Given the description of an element on the screen output the (x, y) to click on. 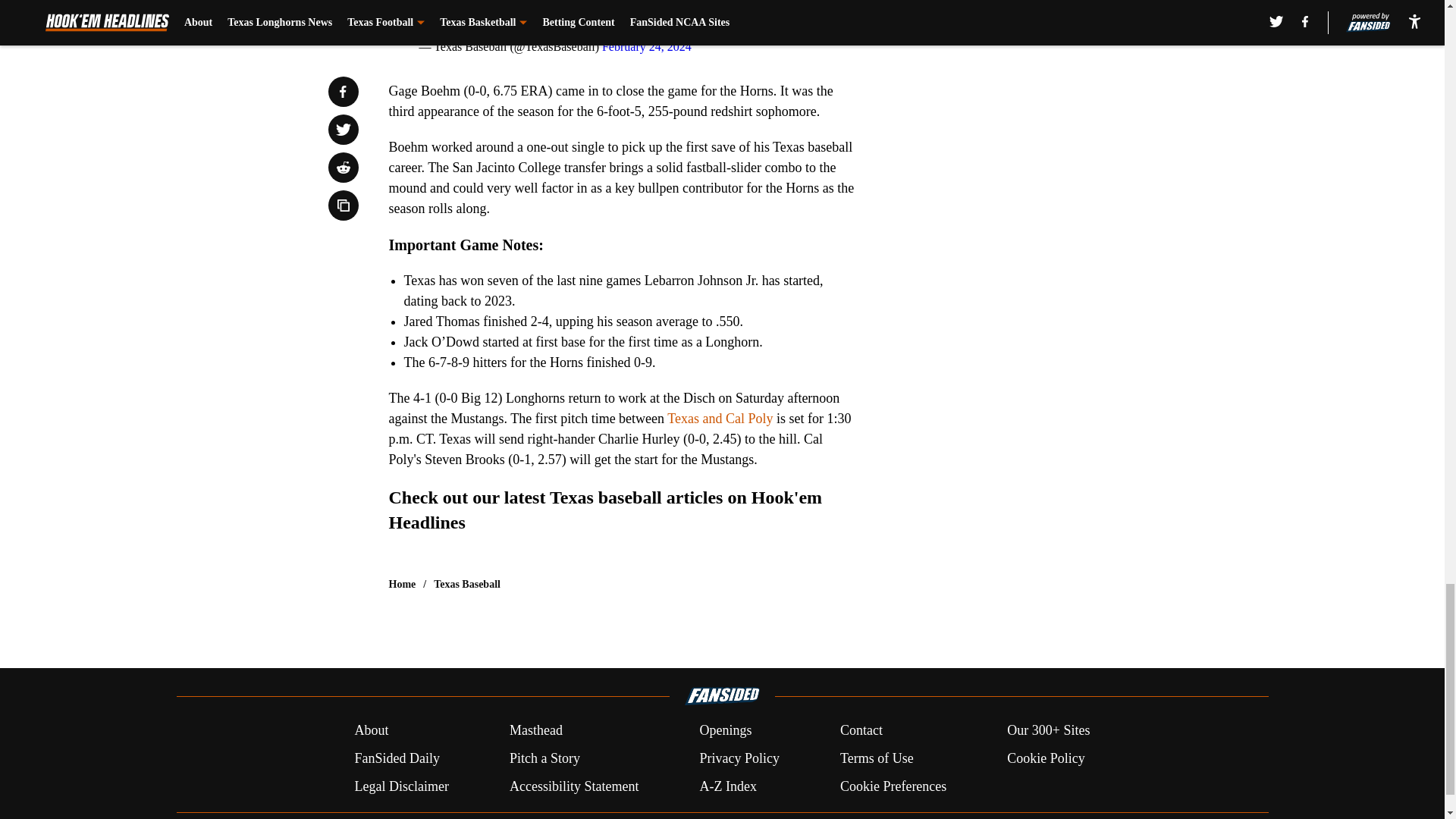
Texas Baseball (466, 584)
February 24, 2024 (646, 46)
Home (401, 584)
Texas and Cal Poly (719, 418)
